Given the description of an element on the screen output the (x, y) to click on. 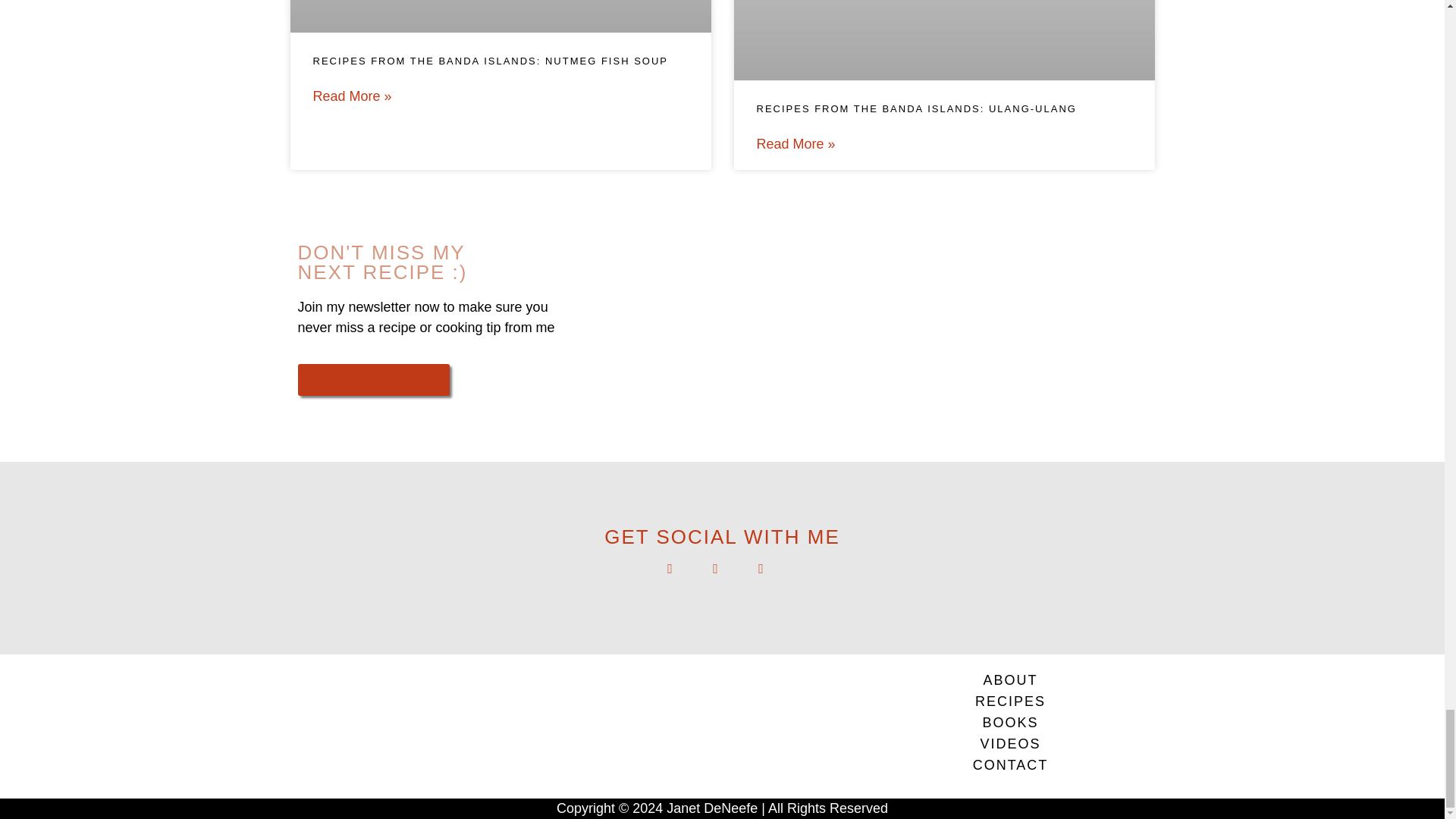
RECIPES FROM THE BANDA ISLANDS: NUTMEG FISH SOUP (490, 60)
